Given the description of an element on the screen output the (x, y) to click on. 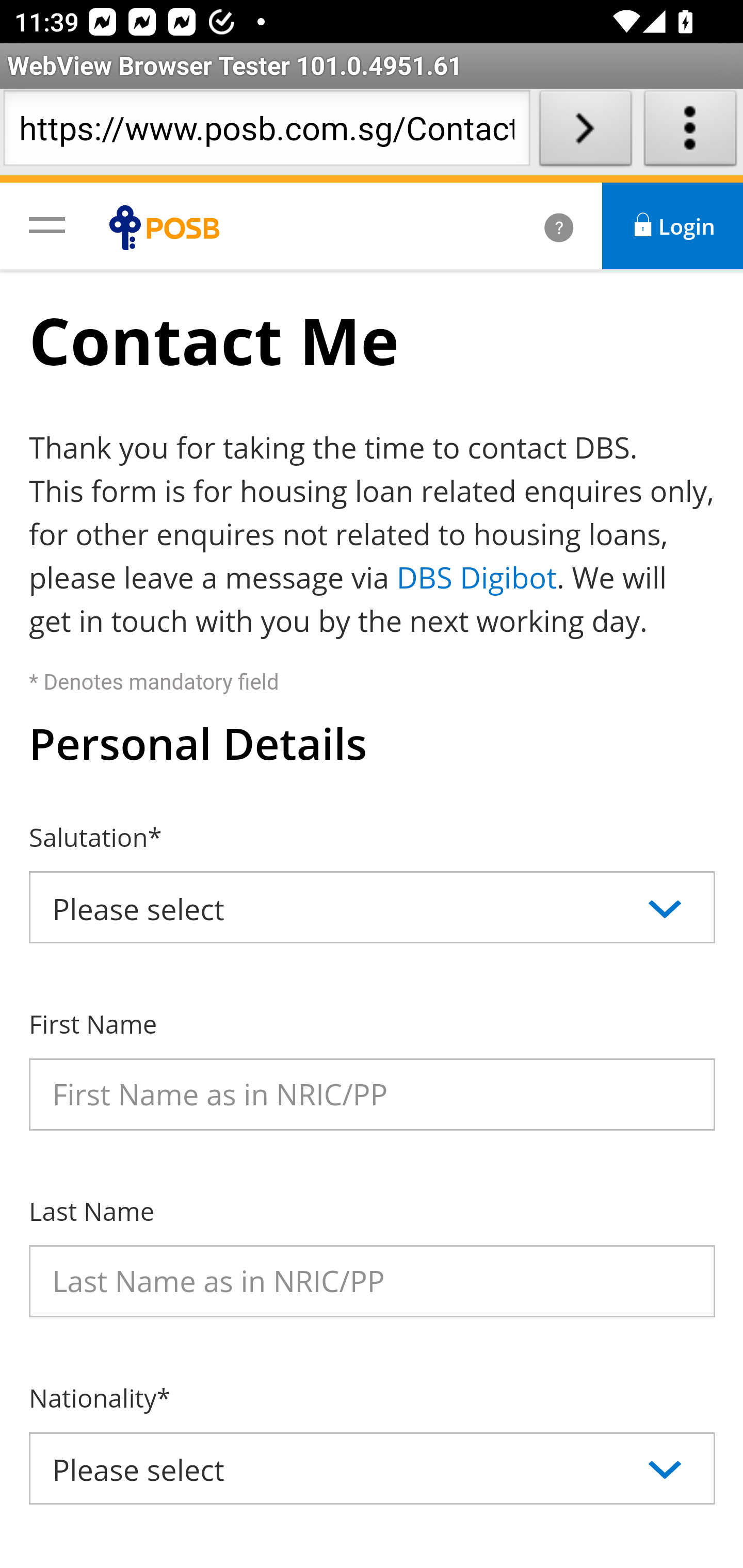
Load URL (585, 132)
About WebView (690, 132)
javascript:void(0); (46, 223)
POSB logo (169, 226)
ﱲ (537, 226)
Login  Login (673, 225)
DBS Digibot (476, 576)
Please select (372, 906)
Please select (372, 1468)
